Given the description of an element on the screen output the (x, y) to click on. 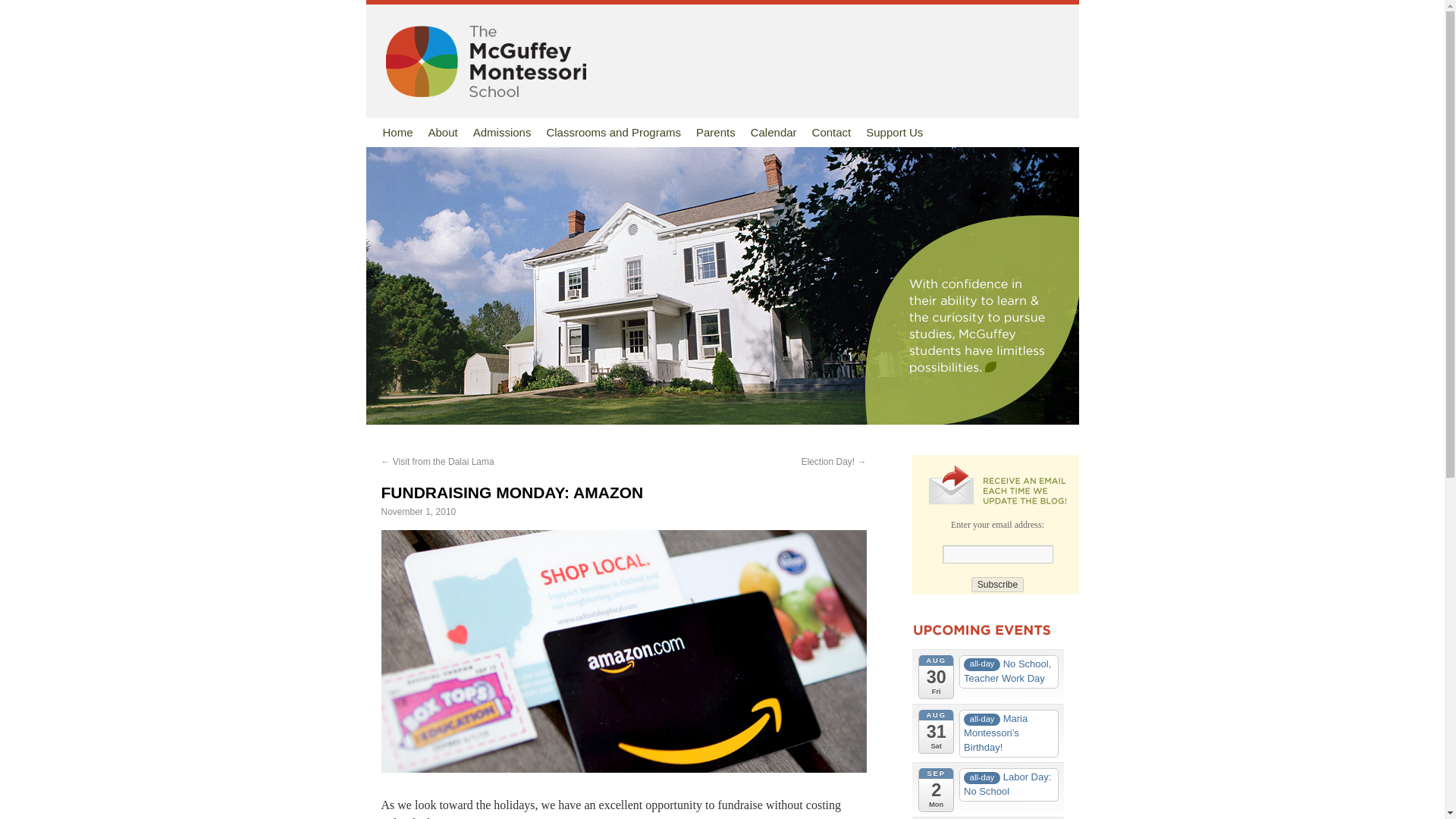
Subscribe (997, 584)
Contact (832, 132)
About (442, 132)
Admissions (501, 132)
7:19 pm (417, 511)
Calendar (773, 132)
Parents (715, 132)
Support Us (894, 132)
Classrooms and Programs (613, 132)
